Given the description of an element on the screen output the (x, y) to click on. 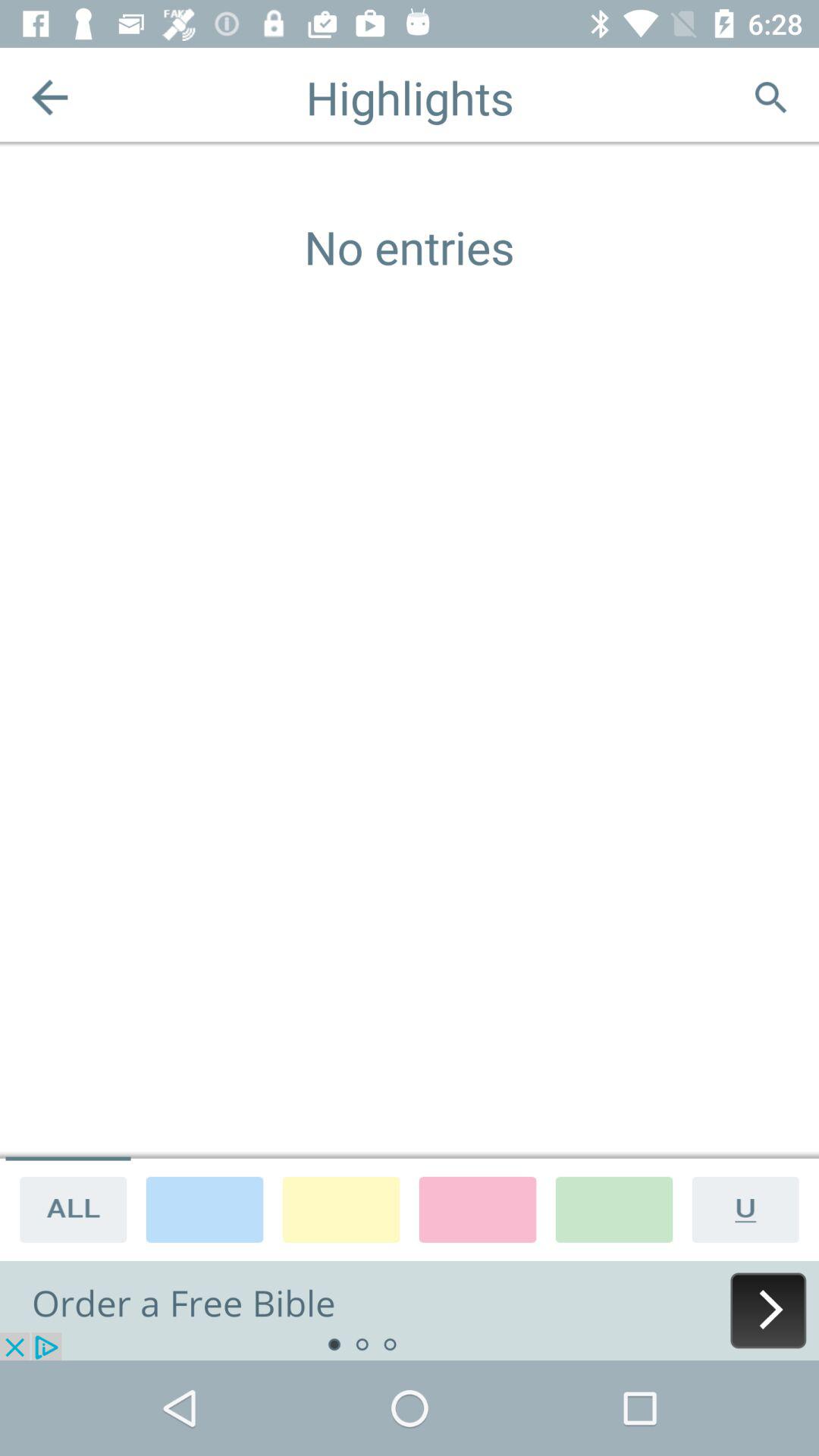
highlight pink (477, 1208)
